Given the description of an element on the screen output the (x, y) to click on. 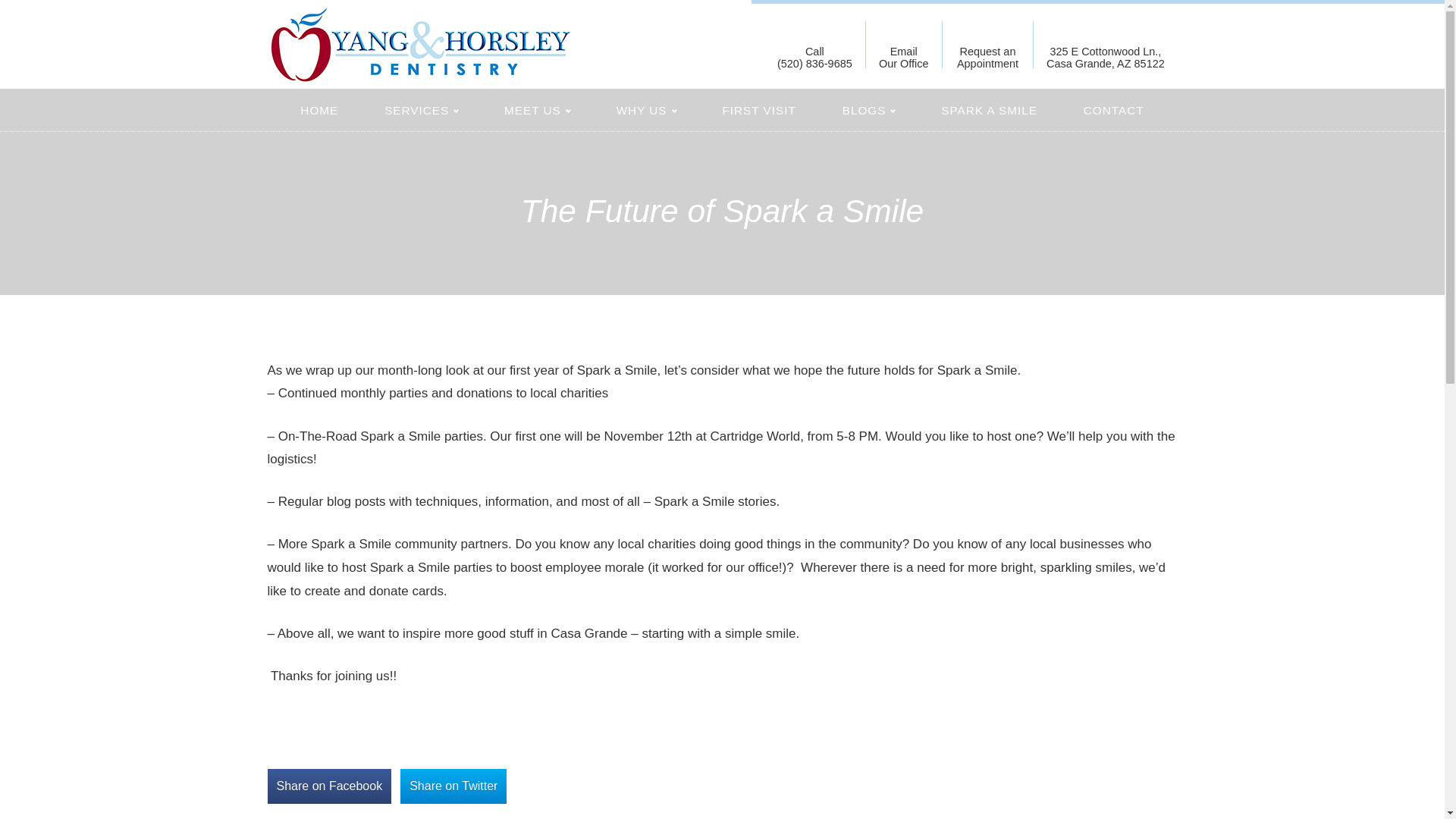
SERVICES (903, 45)
MEET US (420, 110)
HOME (1105, 45)
